Given the description of an element on the screen output the (x, y) to click on. 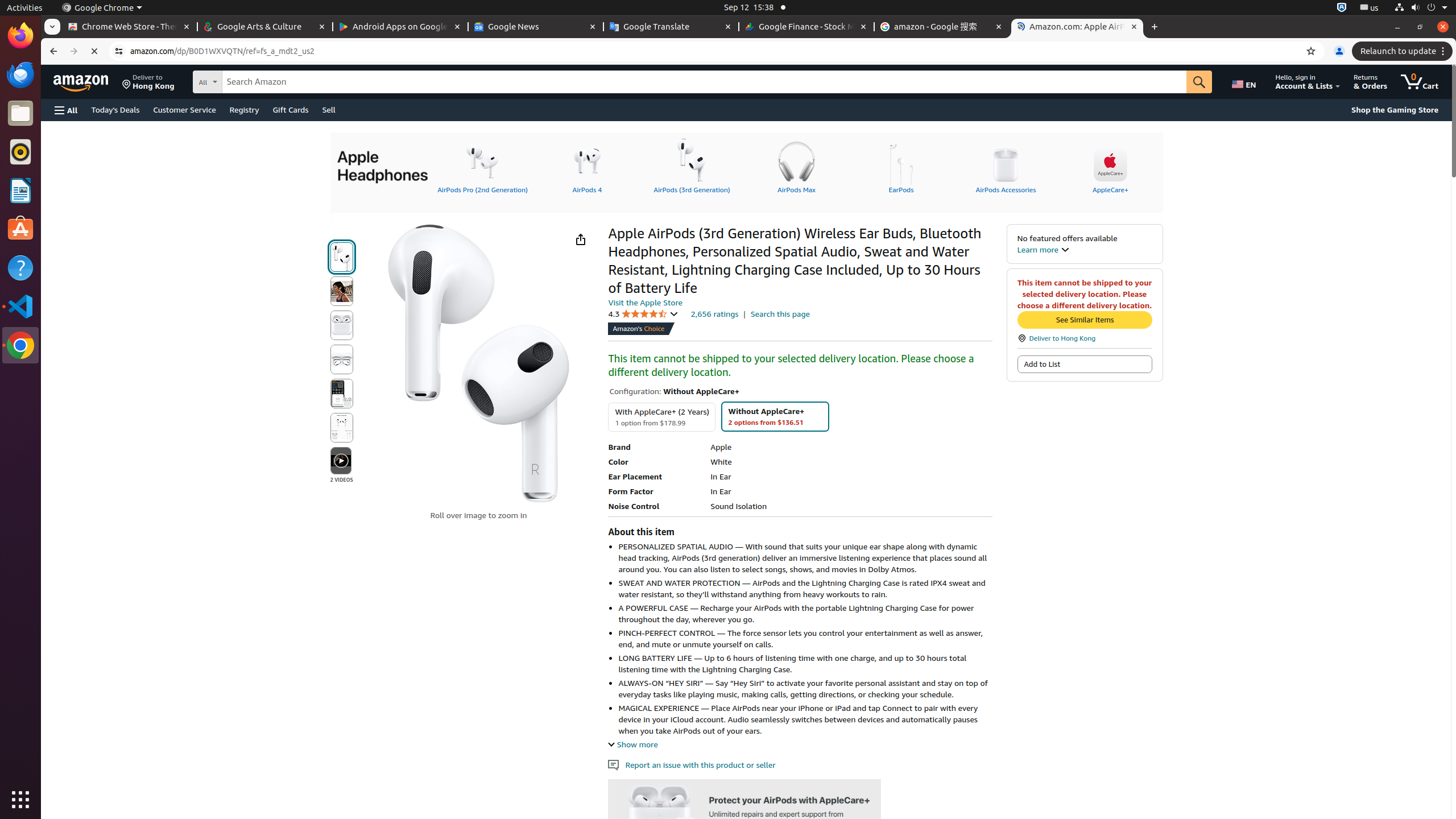
View site information Element type: push-button (118, 51)
AirPods Pro (2nd Generation) Element type: link (482, 165)
:1.72/StatusNotifierItem Element type: menu (1341, 7)
Learn more Element type: push-button (1042, 249)
Rhythmbox Element type: push-button (20, 151)
